Given the description of an element on the screen output the (x, y) to click on. 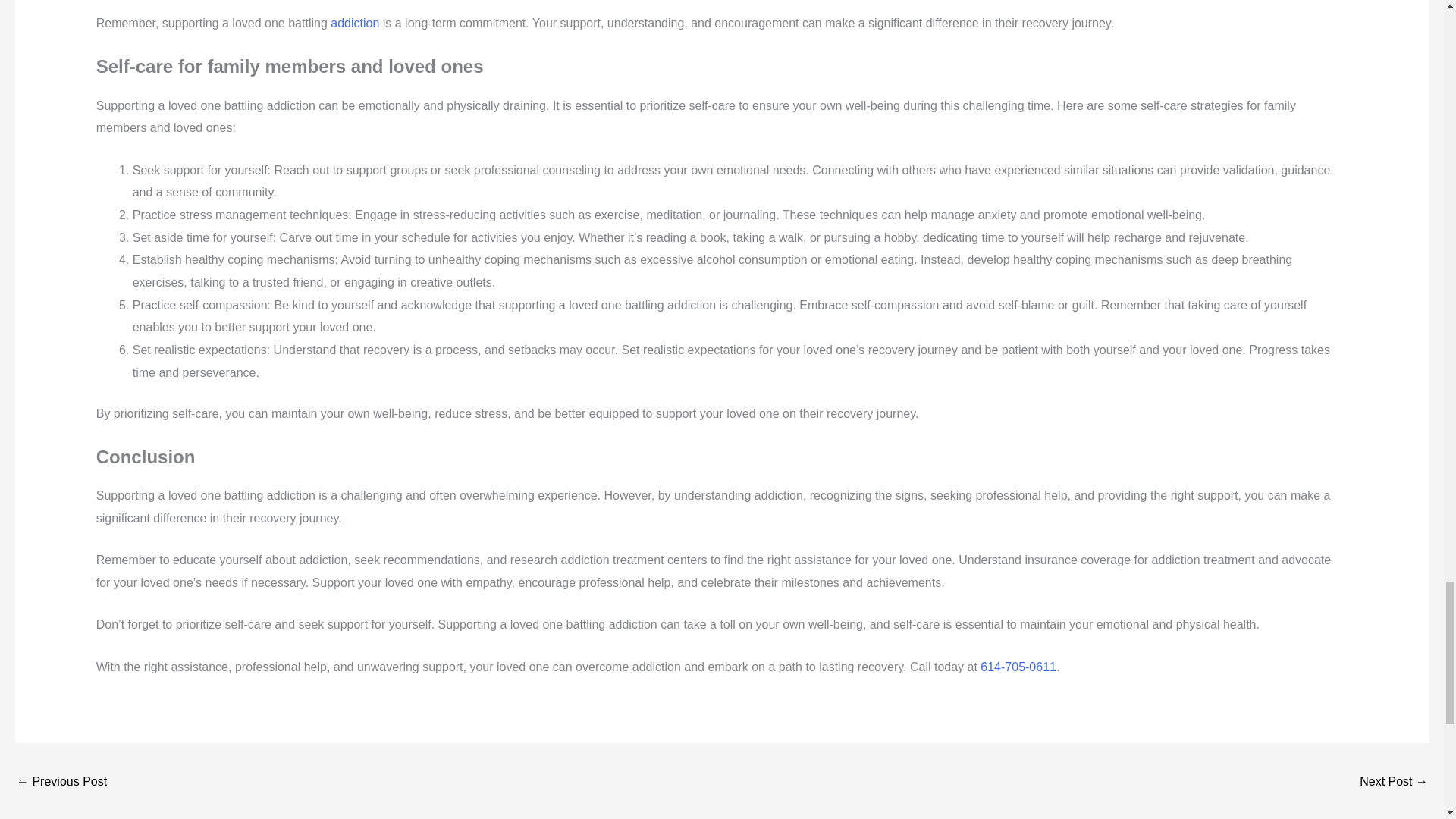
Identifying the Most Addictive Substances (61, 782)
614-705-0611 (1018, 666)
Recognizing Signs Indicating Readiness for Rehab (1393, 782)
addiction (354, 22)
